Given the description of an element on the screen output the (x, y) to click on. 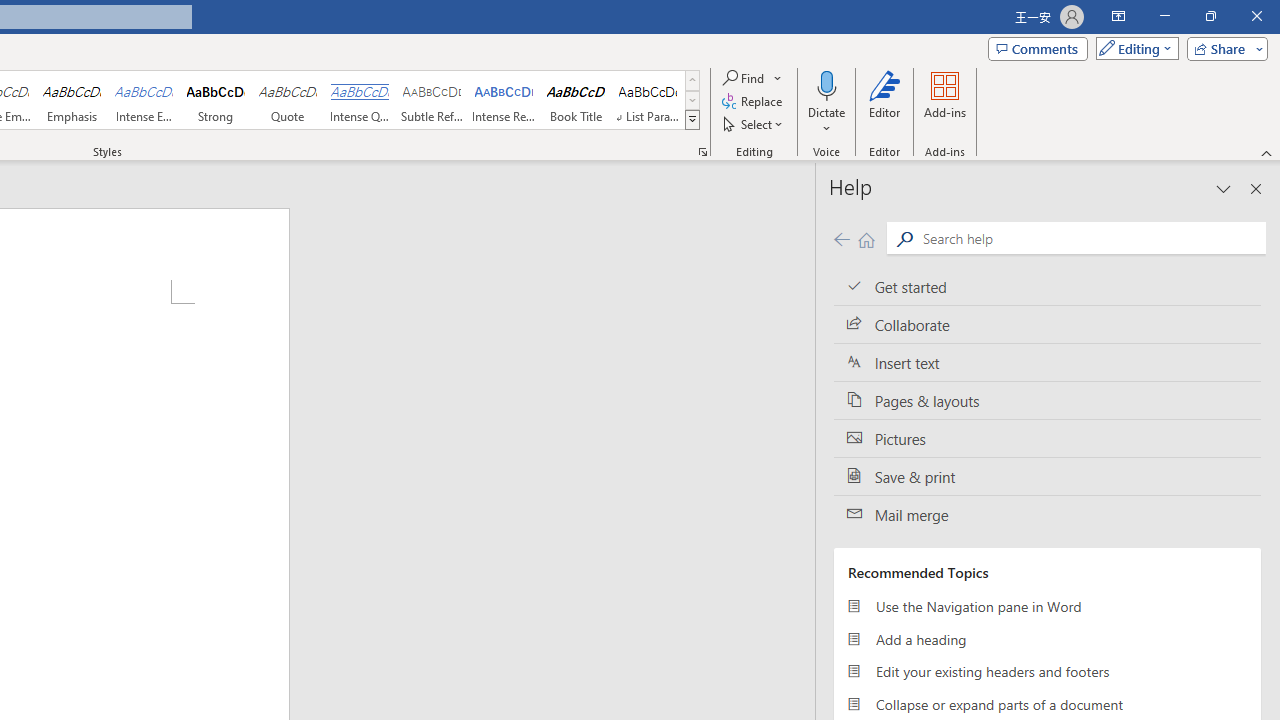
Search (1089, 237)
Collaborate (1047, 325)
Collapse or expand parts of a document (1047, 704)
Mode (1133, 47)
Book Title (575, 100)
Styles (692, 120)
Row up (692, 79)
Select (754, 124)
Search (904, 238)
Use the Navigation pane in Word (1047, 605)
Ribbon Display Options (1118, 16)
Previous page (841, 238)
Quote (287, 100)
Edit your existing headers and footers (1047, 672)
Pictures (1047, 438)
